Given the description of an element on the screen output the (x, y) to click on. 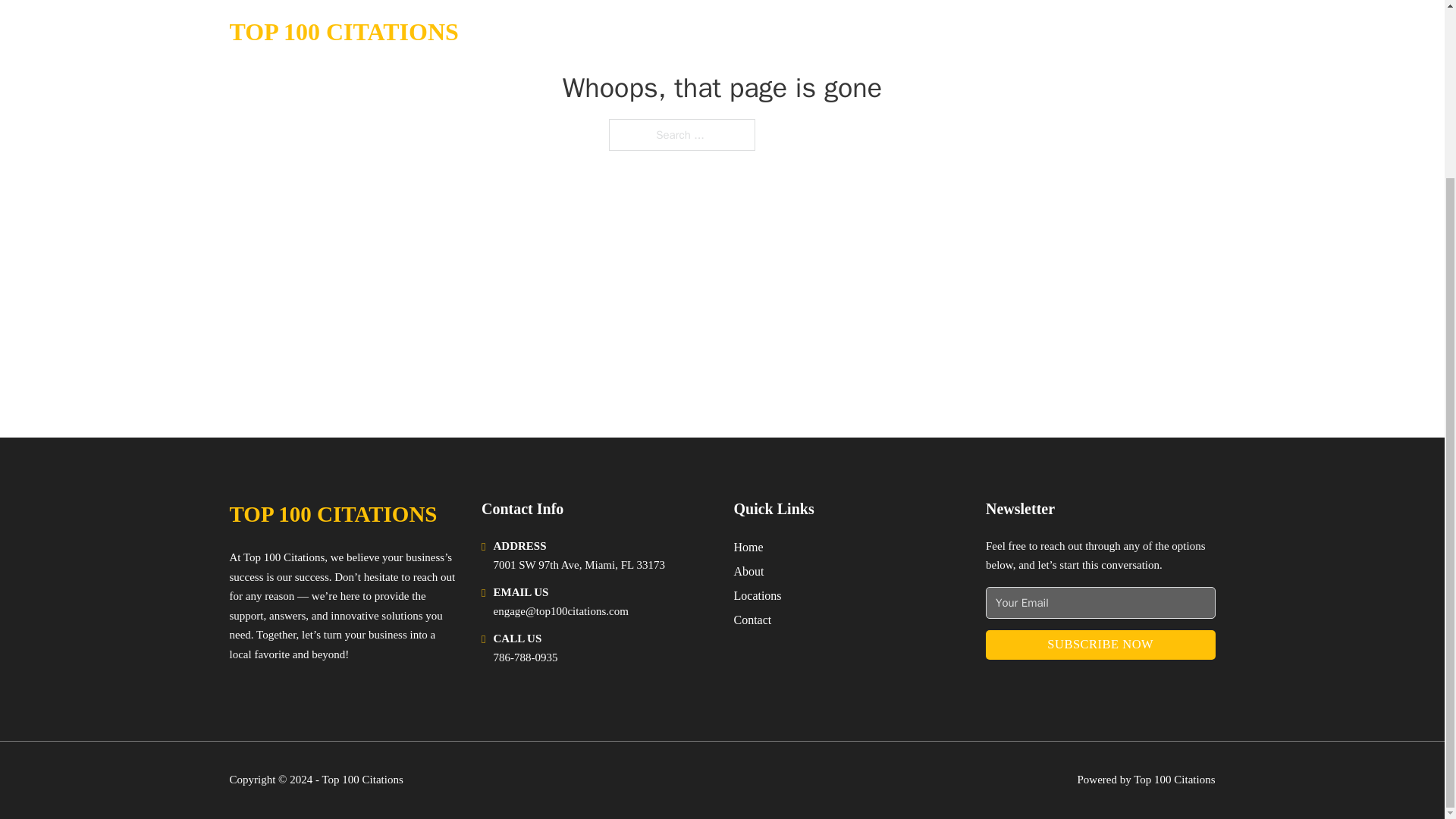
SUBSCRIBE NOW (1100, 644)
786-788-0935 (525, 657)
Locations (757, 595)
TOP 100 CITATIONS (332, 514)
Contact (752, 619)
About (748, 571)
Home (747, 547)
